Given the description of an element on the screen output the (x, y) to click on. 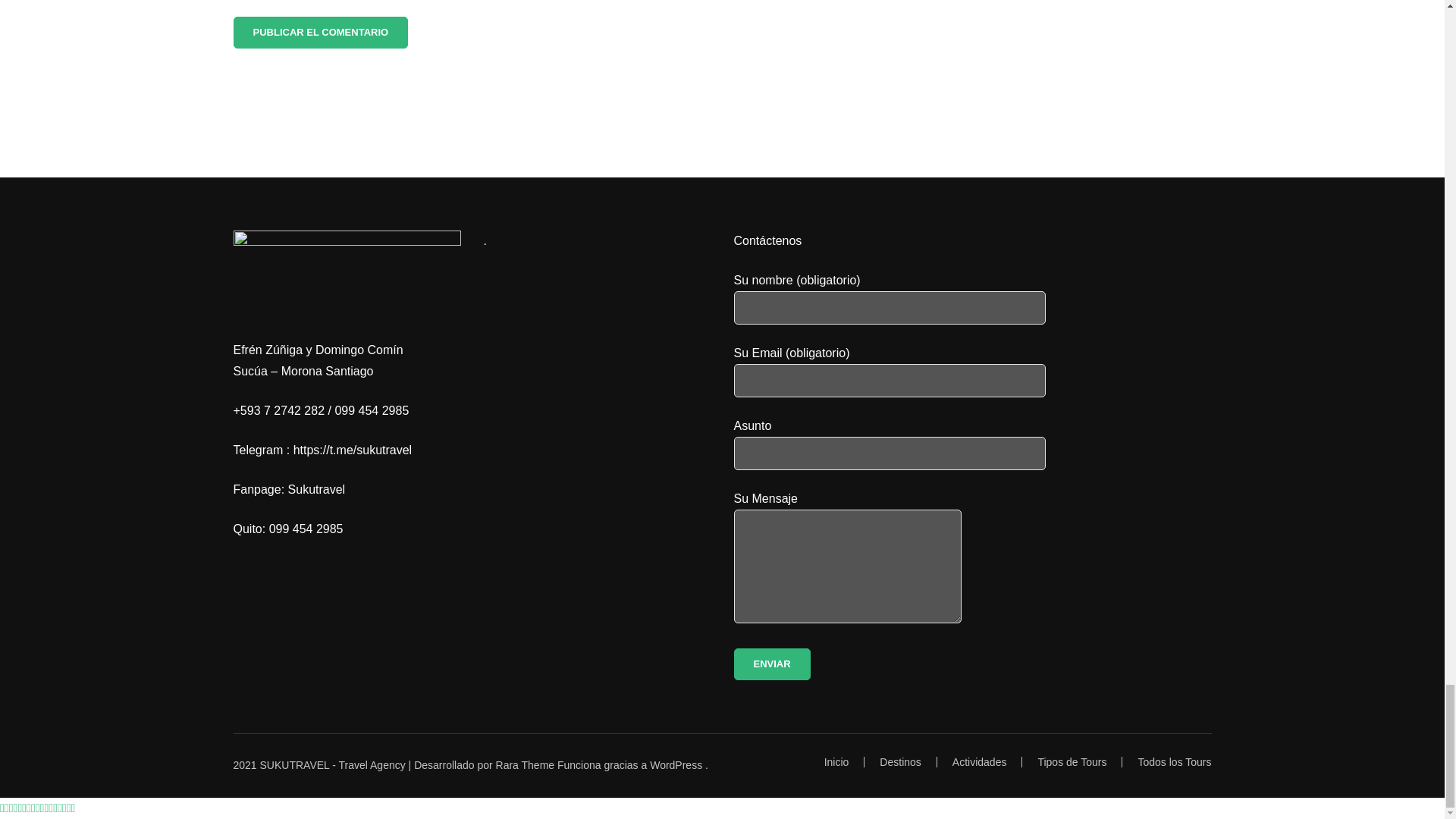
Enviar (771, 664)
Publicar el comentario (320, 32)
